Given the description of an element on the screen output the (x, y) to click on. 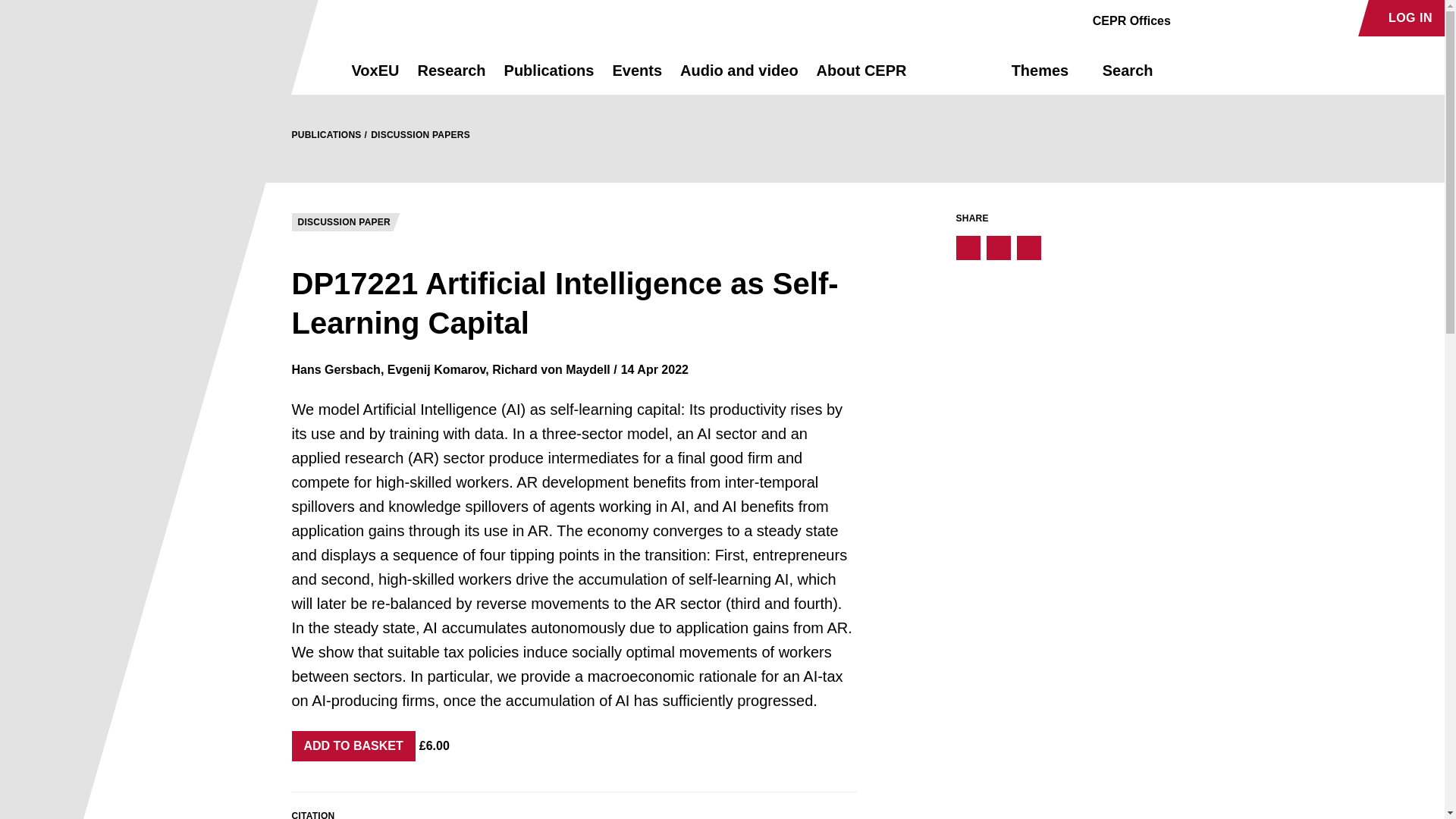
Events (636, 77)
Research (450, 77)
Publications (548, 77)
Add to basket (352, 746)
Go to Linkedin profile (1243, 18)
Audio and video (738, 77)
Go to Audioboom profile (1217, 17)
Return to the homepage (293, 69)
VoxEU (375, 77)
